Given the description of an element on the screen output the (x, y) to click on. 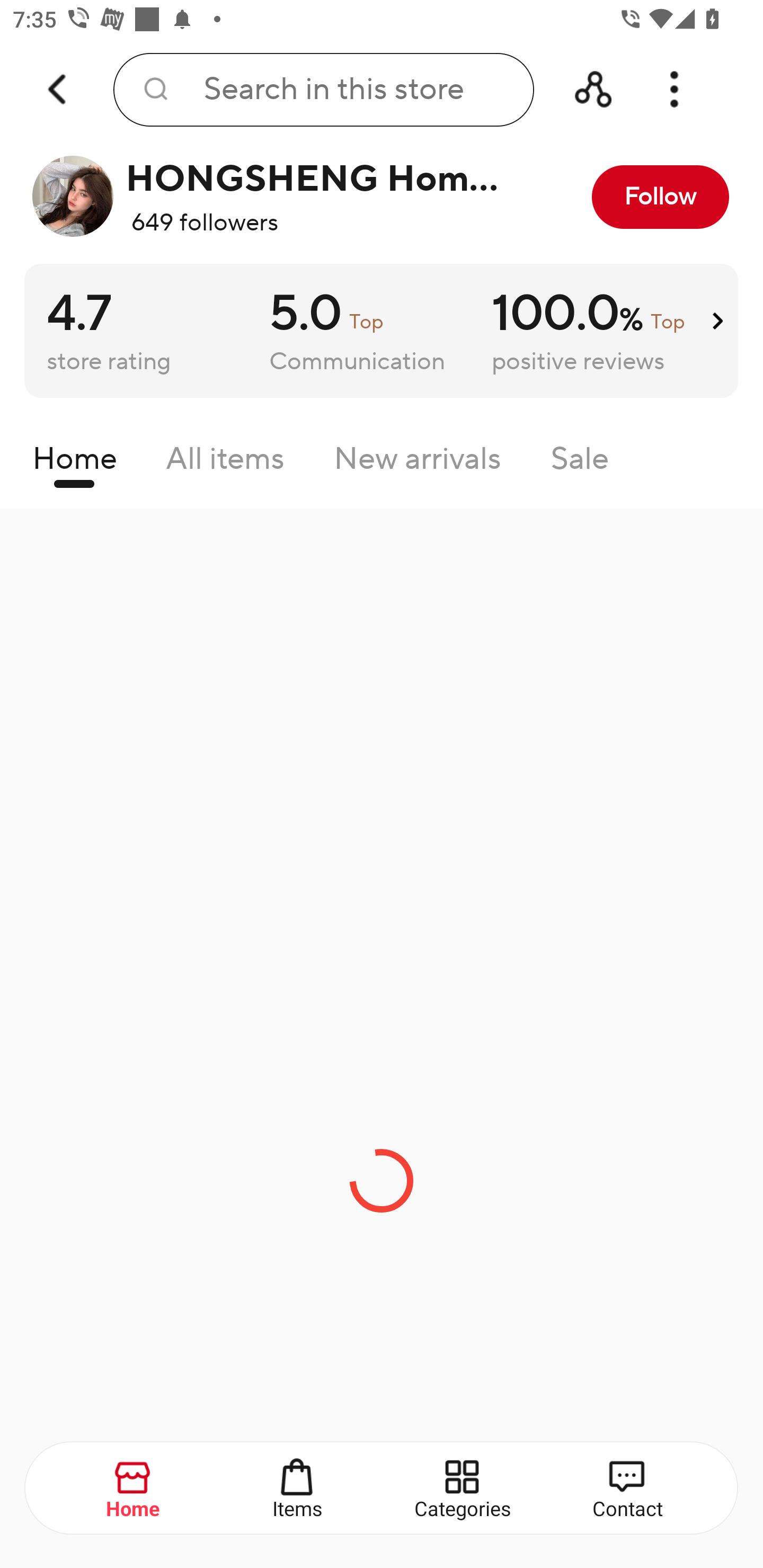
Search in this store (323, 90)
HONGSHENG Hom…  649 followers (272, 196)
Follow (660, 196)
Home (74, 463)
All items (225, 463)
New arrivals
 (418, 463)
Sale (579, 463)
Home (133, 1488)
Items (297, 1488)
Categories (462, 1488)
Contact (627, 1488)
